Given the description of an element on the screen output the (x, y) to click on. 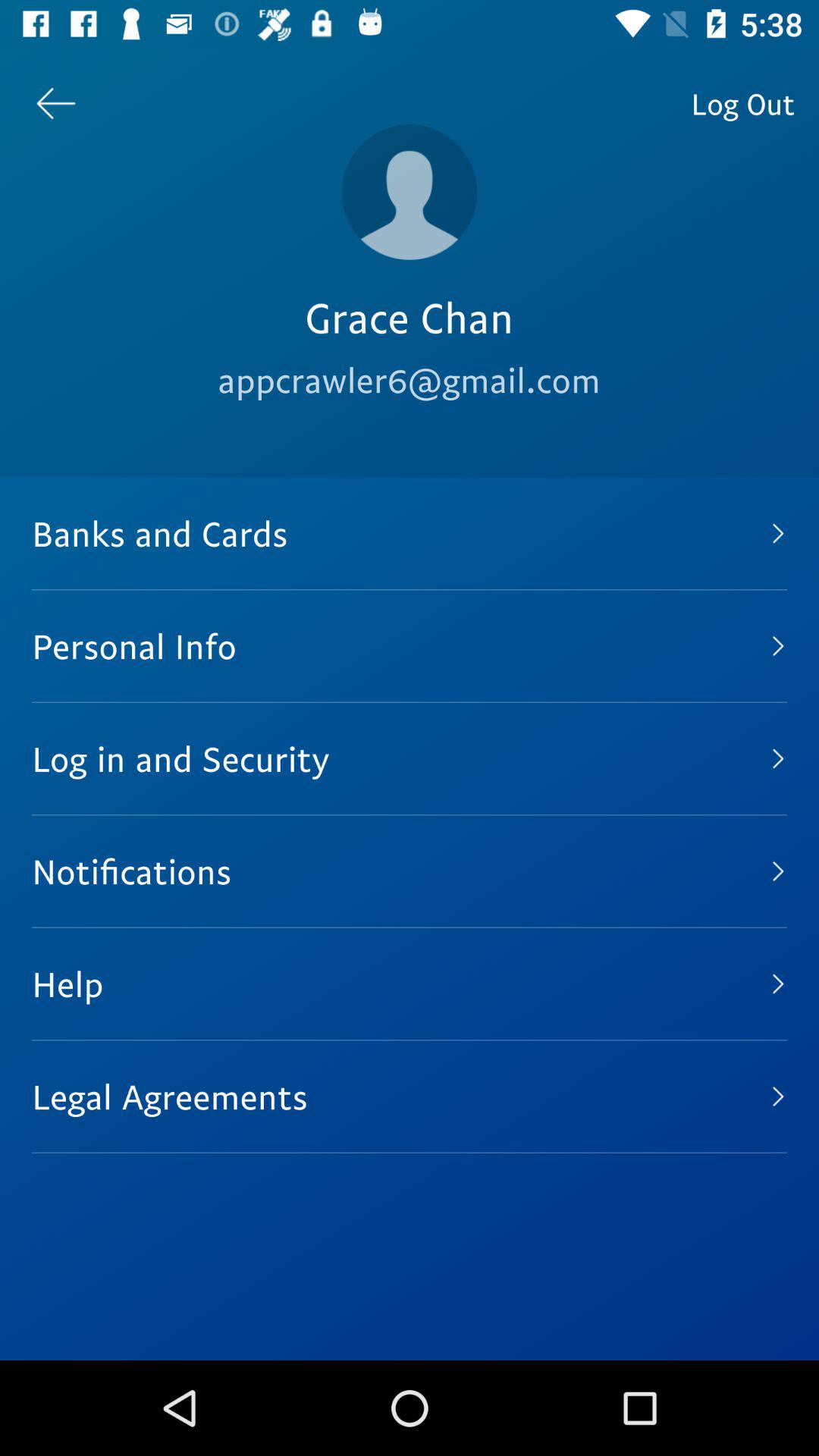
click the icon above the banks and cards icon (55, 103)
